Given the description of an element on the screen output the (x, y) to click on. 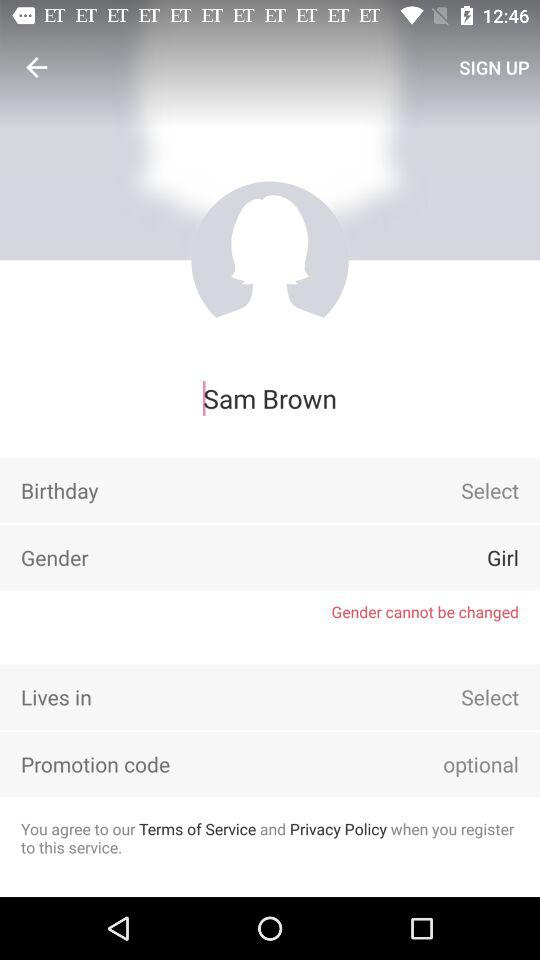
move cursor to box (453, 764)
